Given the description of an element on the screen output the (x, y) to click on. 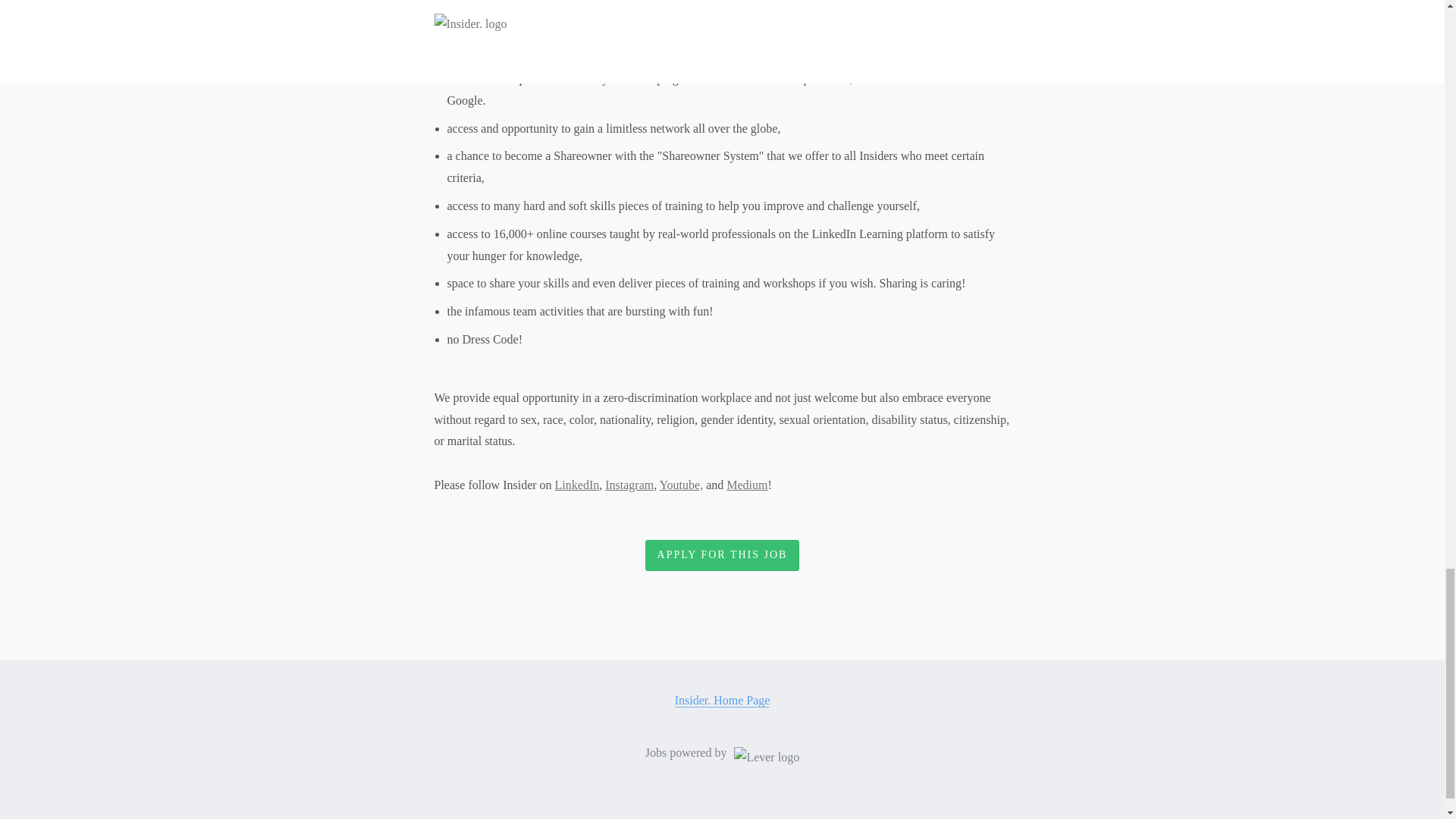
Insider. Home Page (722, 700)
APPLY FOR THIS JOB (722, 554)
Youtube, (681, 484)
Jobs powered by (722, 753)
LinkedIn (576, 484)
Instagram (629, 484)
Medium (746, 484)
